Given the description of an element on the screen output the (x, y) to click on. 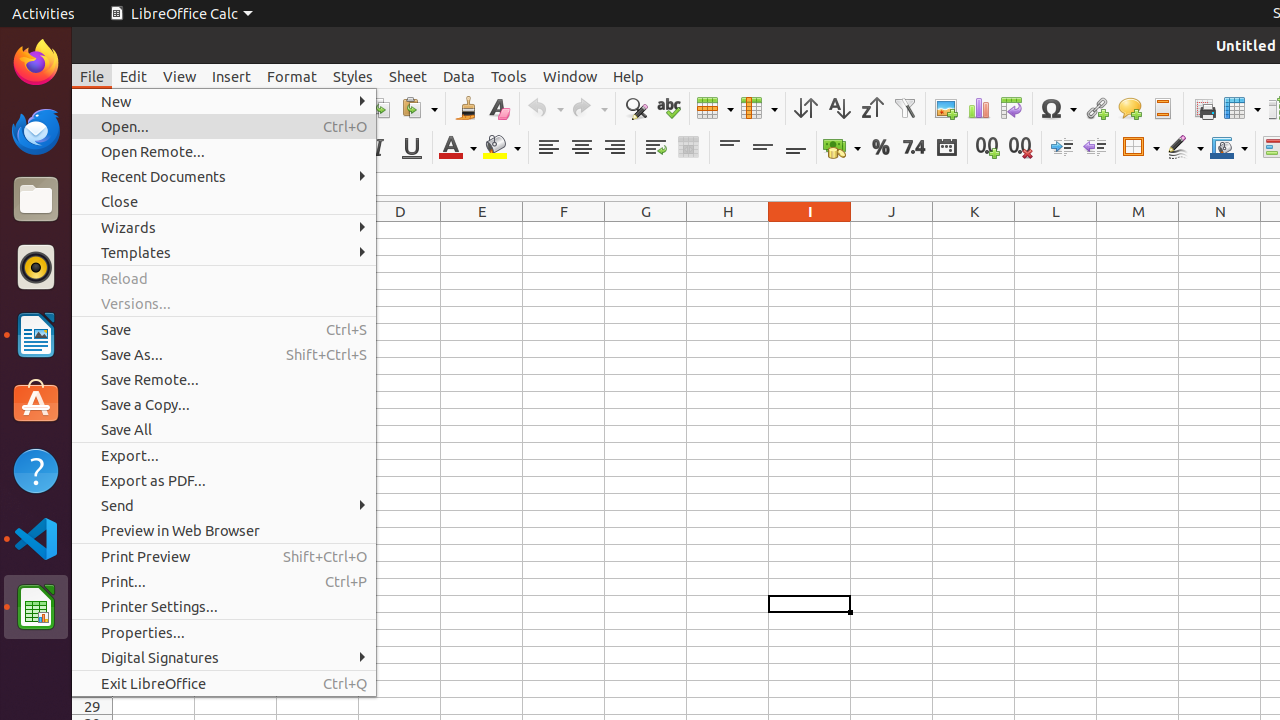
Wrap Text Element type: push-button (655, 147)
Clone Element type: push-button (465, 108)
Save Remote... Element type: menu-item (224, 379)
Paste Element type: push-button (419, 108)
Open... Element type: menu-item (224, 126)
